Given the description of an element on the screen output the (x, y) to click on. 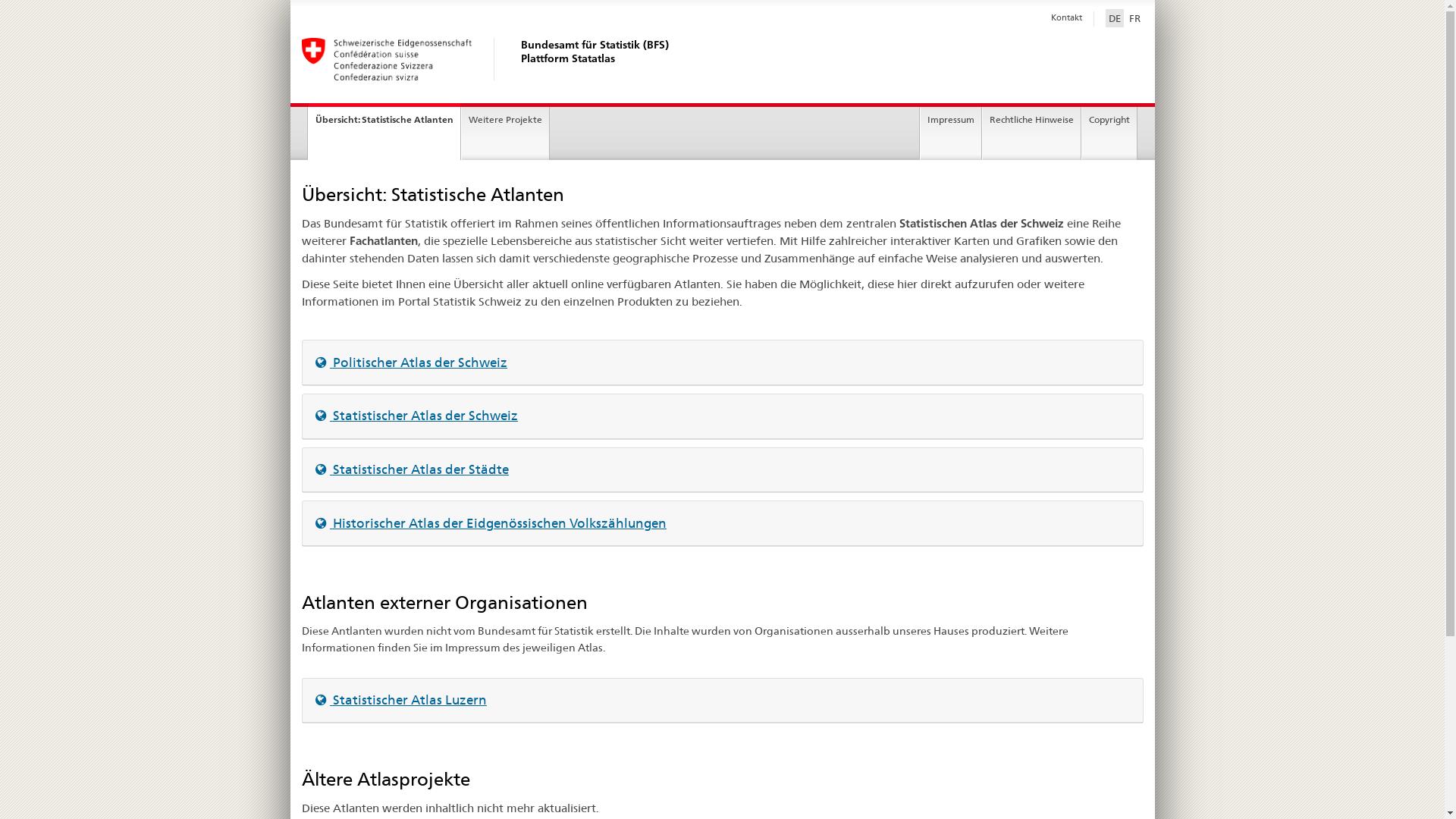
Statistischer Atlas Luzern Element type: text (400, 699)
Statistischer Atlas der Schweiz Element type: text (416, 415)
Rechtliche Hinweise Element type: text (1031, 133)
Weitere Projekte Element type: text (505, 133)
FR Element type: text (1133, 18)
Politischer Atlas der Schweiz Element type: text (411, 362)
DE Element type: text (1114, 18)
Copyright Element type: text (1109, 133)
Impressum Element type: text (950, 133)
Kontakt Element type: text (1066, 17)
